Given the description of an element on the screen output the (x, y) to click on. 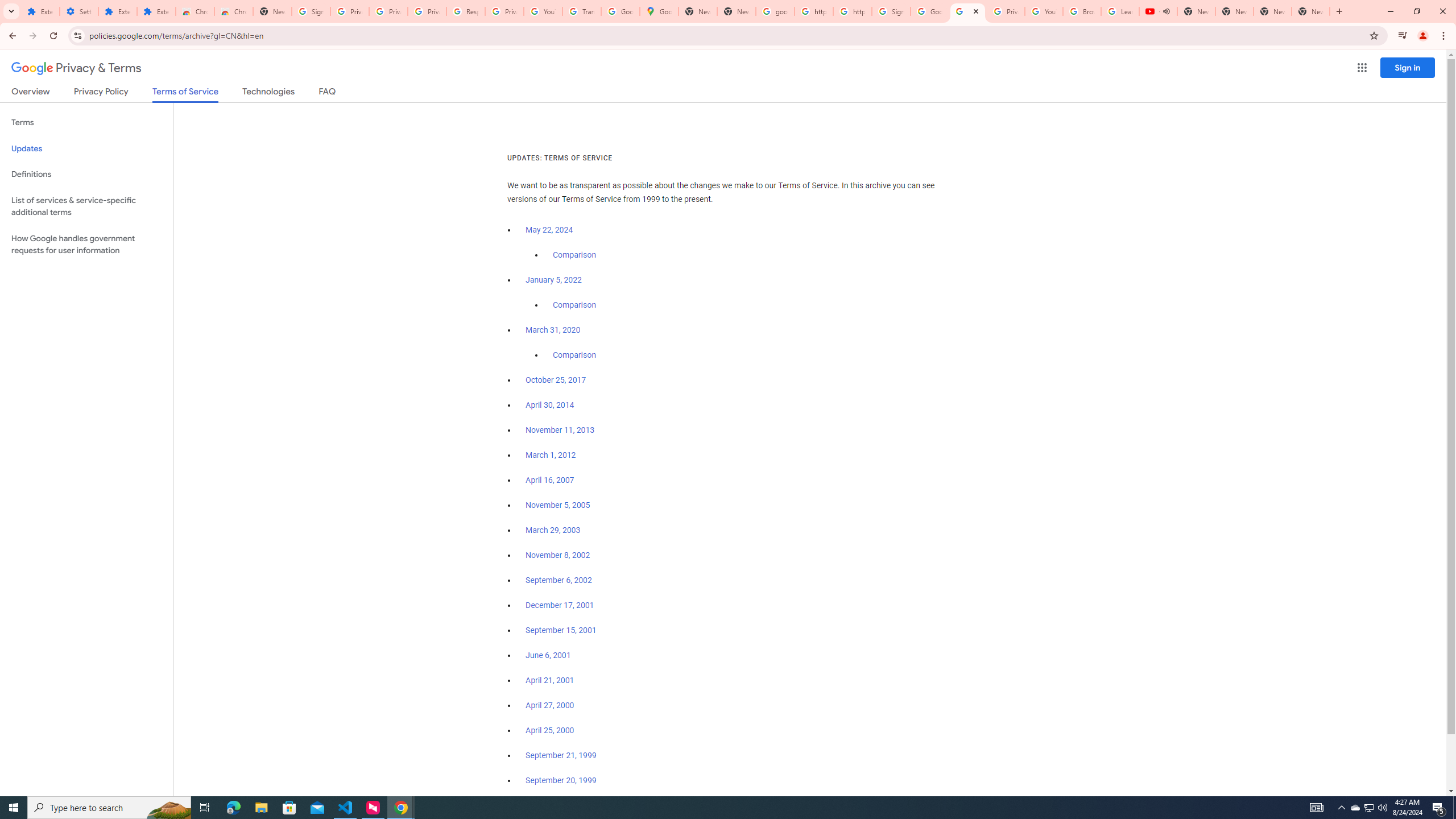
March 31, 2020 (552, 330)
September 21, 1999 (560, 755)
March 1, 2012 (550, 455)
